Given the description of an element on the screen output the (x, y) to click on. 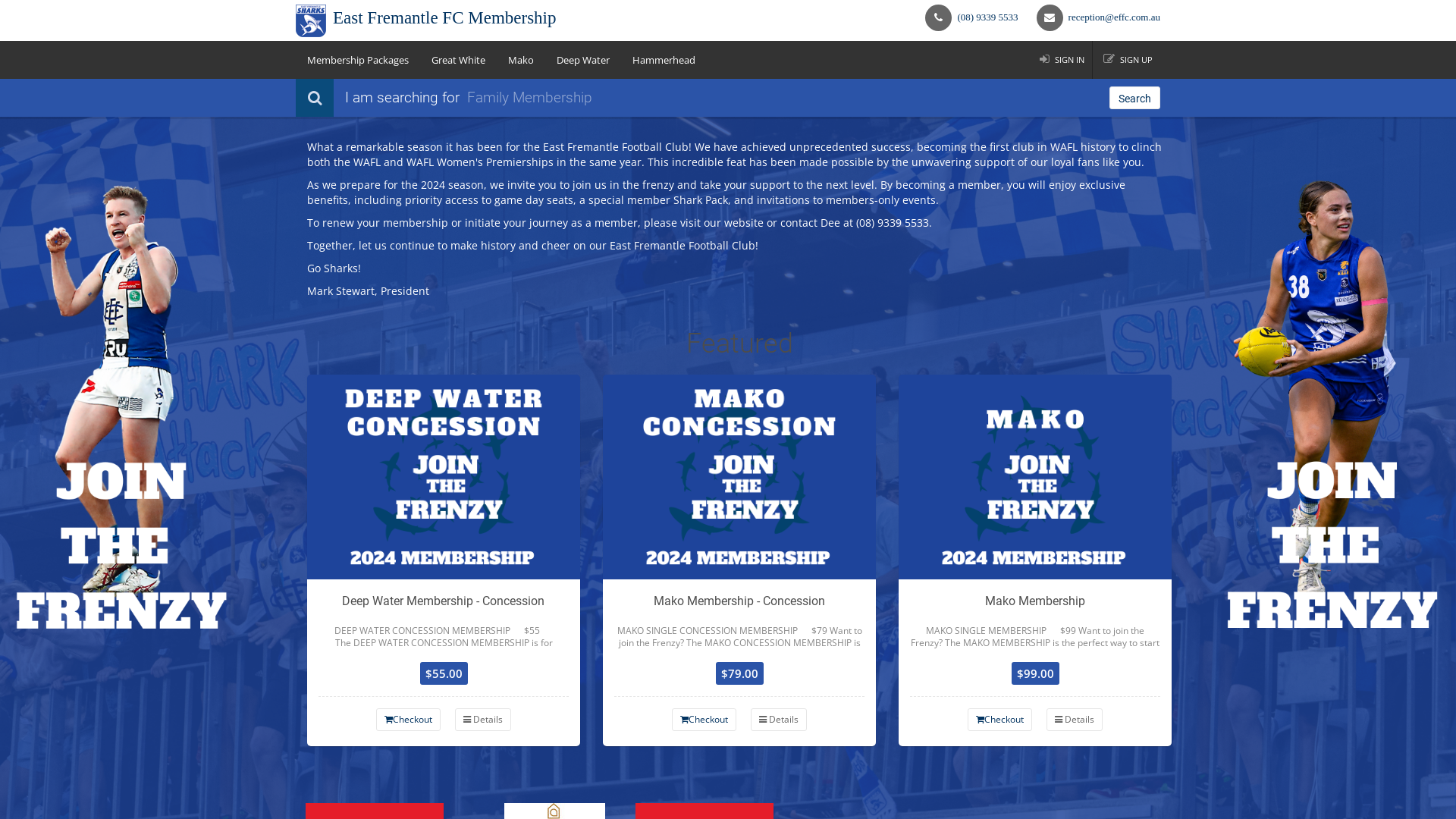
Deep Water Membership - Concession Element type: hover (443, 476)
Checkout Element type: text (408, 719)
Great White Element type: text (458, 59)
Search Element type: text (1134, 97)
Checkout Element type: text (703, 719)
Details Element type: text (778, 719)
Details Element type: text (483, 719)
Mako Membership - Concession Element type: hover (738, 476)
Hammerhead Element type: text (663, 59)
SIGN IN Element type: text (1062, 59)
East Fremantle FC Membership Element type: text (505, 20)
Checkout Element type: text (999, 719)
East Fremantle FC Membership Logo Element type: hover (310, 20)
reception@effc.com.au Element type: text (1114, 16)
SIGN UP Element type: text (1127, 59)
Mako Membership Element type: hover (1034, 476)
Deep Water Element type: text (583, 59)
(08) 9339 5533 Element type: text (987, 16)
Details Element type: text (1074, 719)
Mako Element type: text (520, 59)
Membership Packages Element type: text (357, 59)
